Given the description of an element on the screen output the (x, y) to click on. 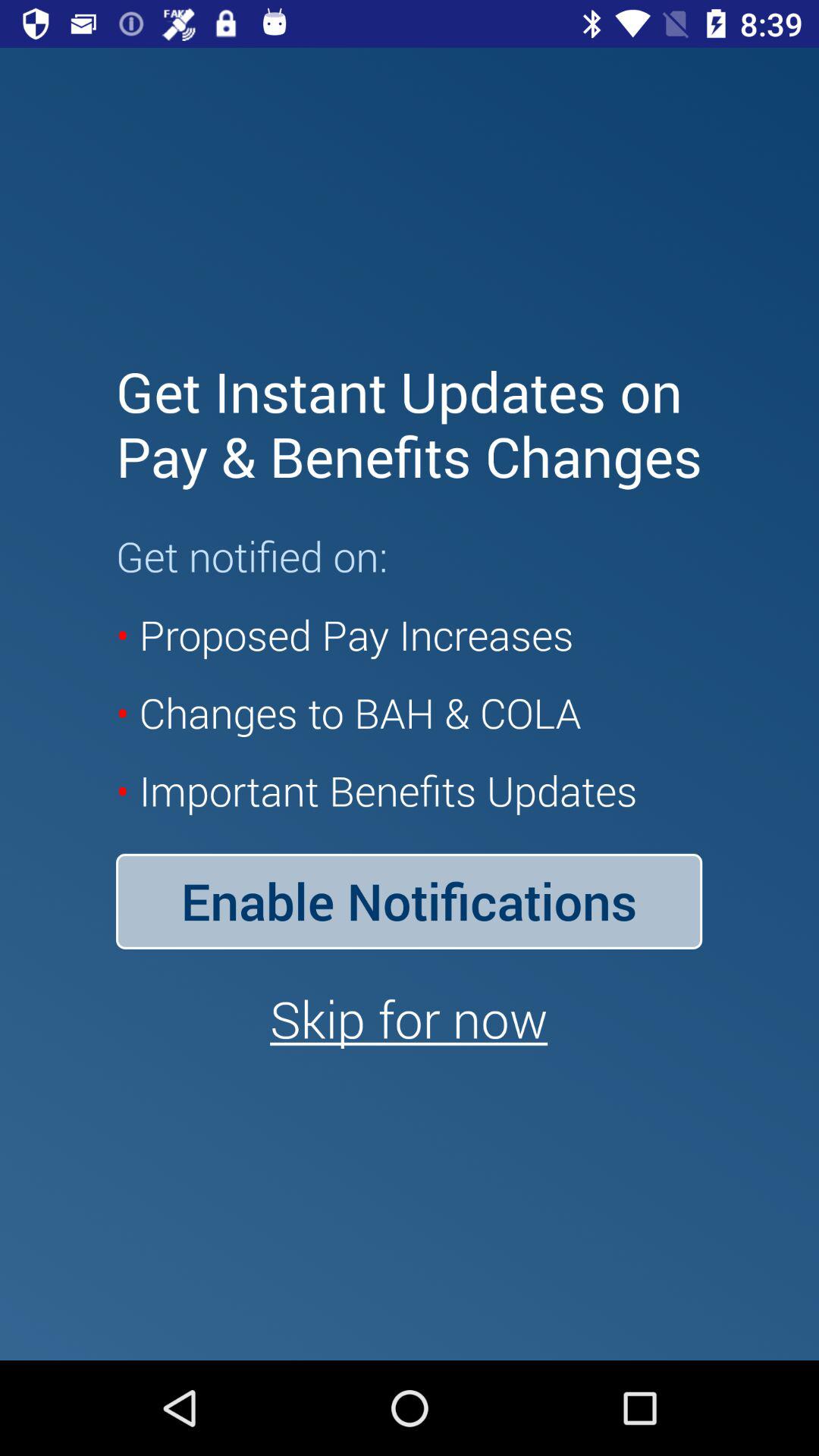
turn off item above skip for now (409, 901)
